Given the description of an element on the screen output the (x, y) to click on. 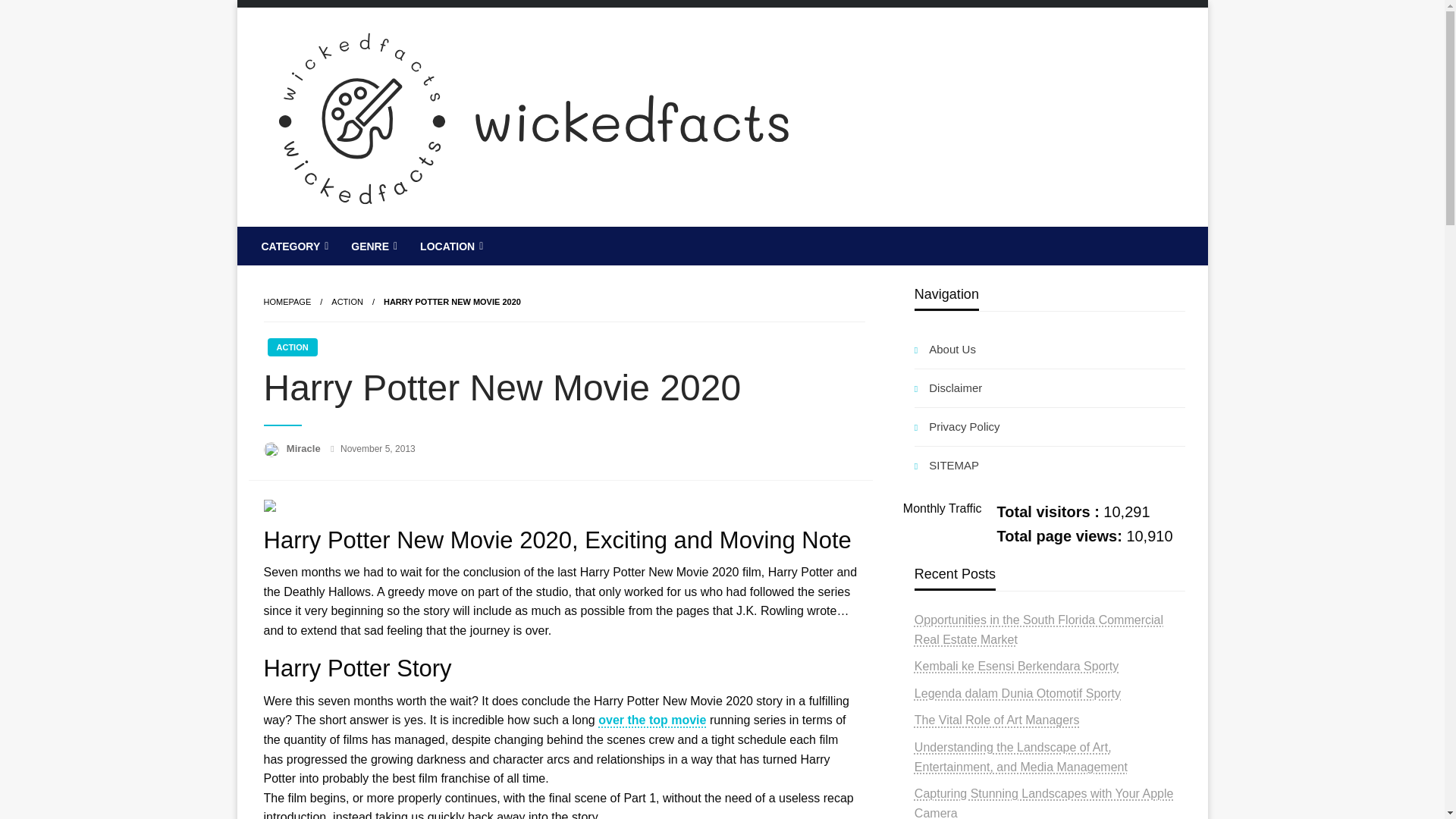
HOMEPAGE (287, 301)
ACTION (346, 301)
Wickedfacts (345, 238)
Homepage (287, 301)
Miracle (304, 448)
Harry Potter New Movie 2020 (452, 301)
November 5, 2013 (377, 448)
Miracle (304, 448)
GENRE (372, 246)
